Given the description of an element on the screen output the (x, y) to click on. 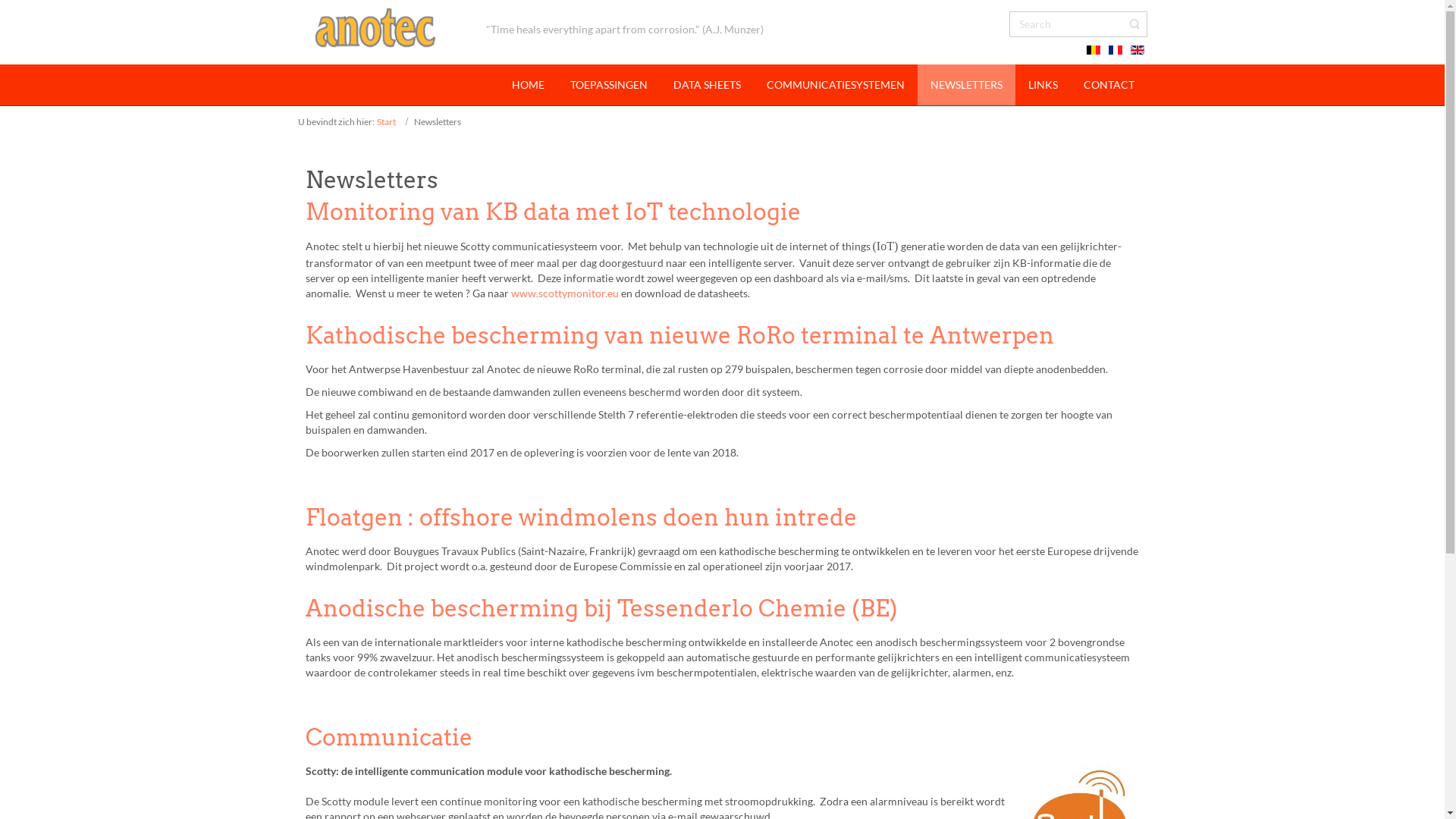
Nederlands (NL) Element type: hover (1093, 49)
COMMUNICATIESYSTEMEN Element type: text (835, 84)
LINKS Element type: text (1042, 84)
Start Element type: text (385, 121)
English (UK) Element type: hover (1137, 49)
Communicatie Element type: text (387, 736)
DATA SHEETS Element type: text (706, 84)
TOEPASSINGEN Element type: text (607, 84)
Monitoring van KB data met IoT technologie Element type: text (552, 211)
Floatgen : offshore windmolens doen hun intrede Element type: text (580, 516)
Francais Element type: hover (1115, 49)
HOME Element type: text (527, 84)
www.scottymonitor.eu Element type: text (564, 292)
CONTACT Element type: text (1108, 84)
NEWSLETTERS Element type: text (966, 84)
Anodische bescherming bij Tessenderlo Chemie (BE) Element type: text (600, 607)
